Given the description of an element on the screen output the (x, y) to click on. 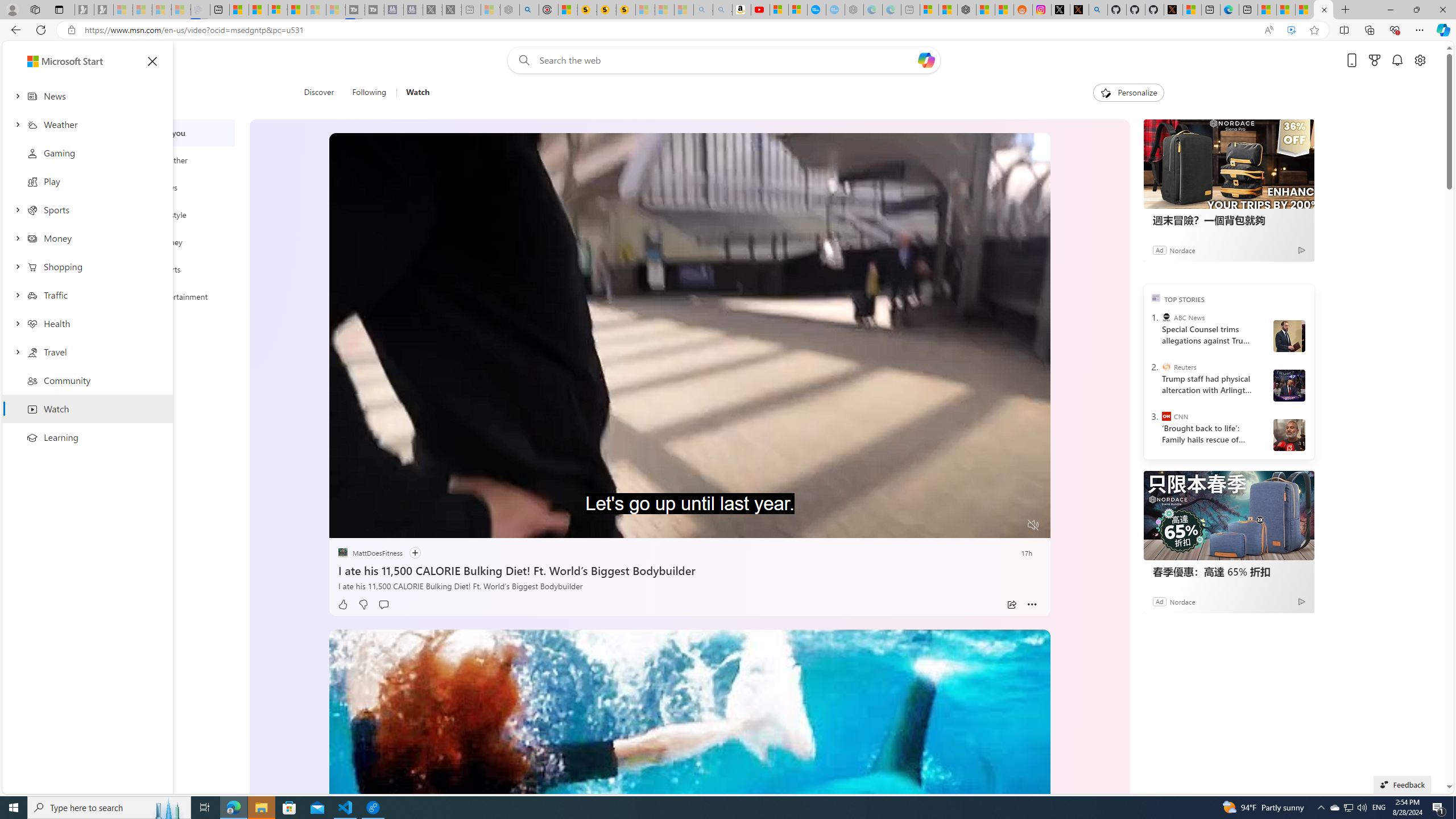
poe - Search (529, 9)
Progress Bar (689, 510)
